Given the description of an element on the screen output the (x, y) to click on. 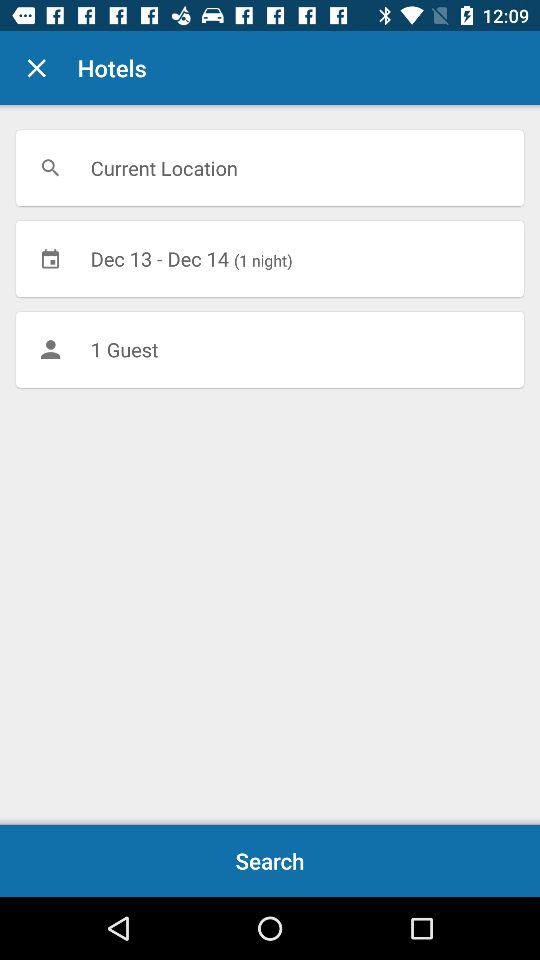
click icon above the dec 13 dec icon (269, 168)
